Given the description of an element on the screen output the (x, y) to click on. 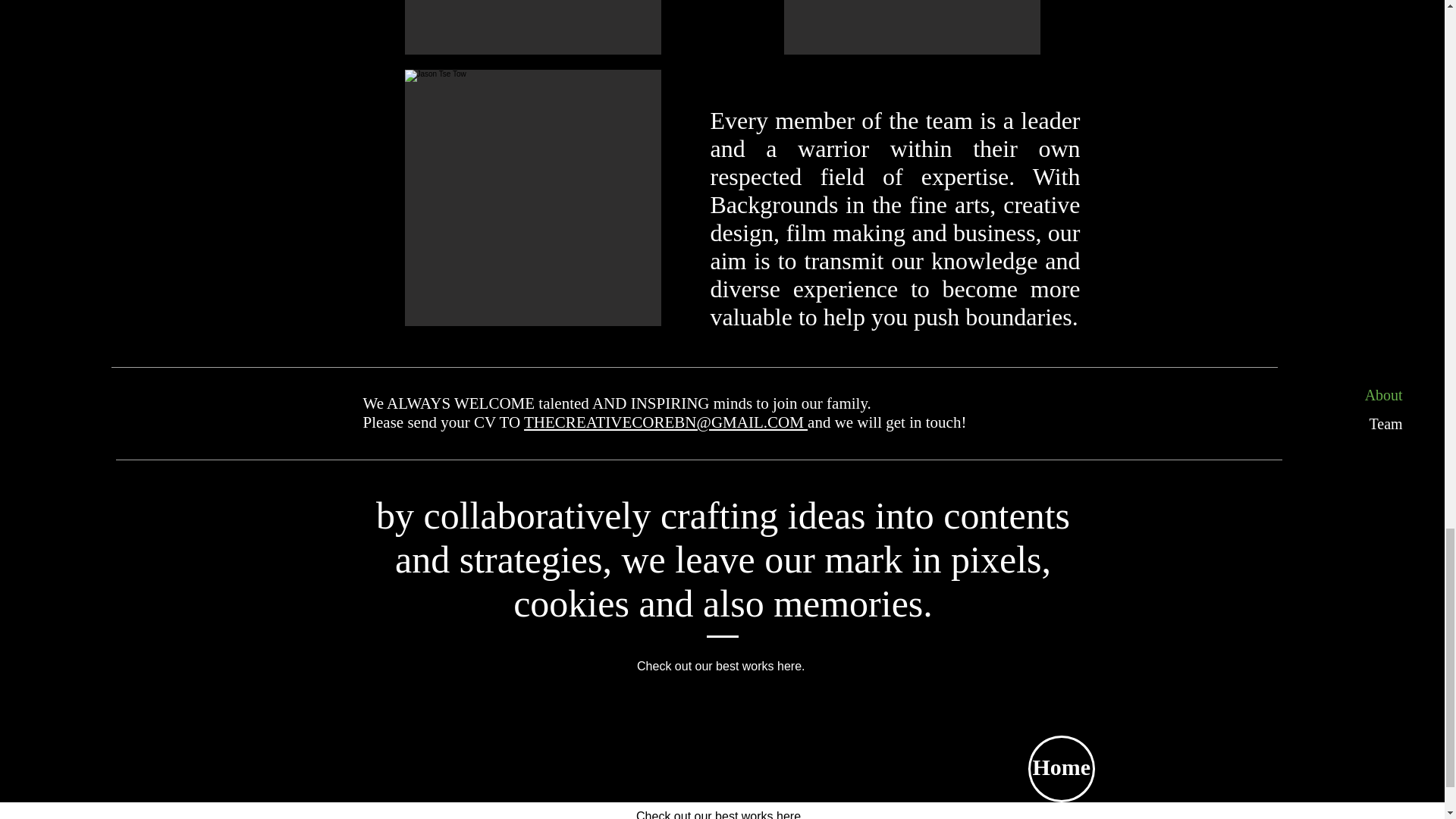
Home (1061, 768)
and we will get in touch! (887, 422)
